Given the description of an element on the screen output the (x, y) to click on. 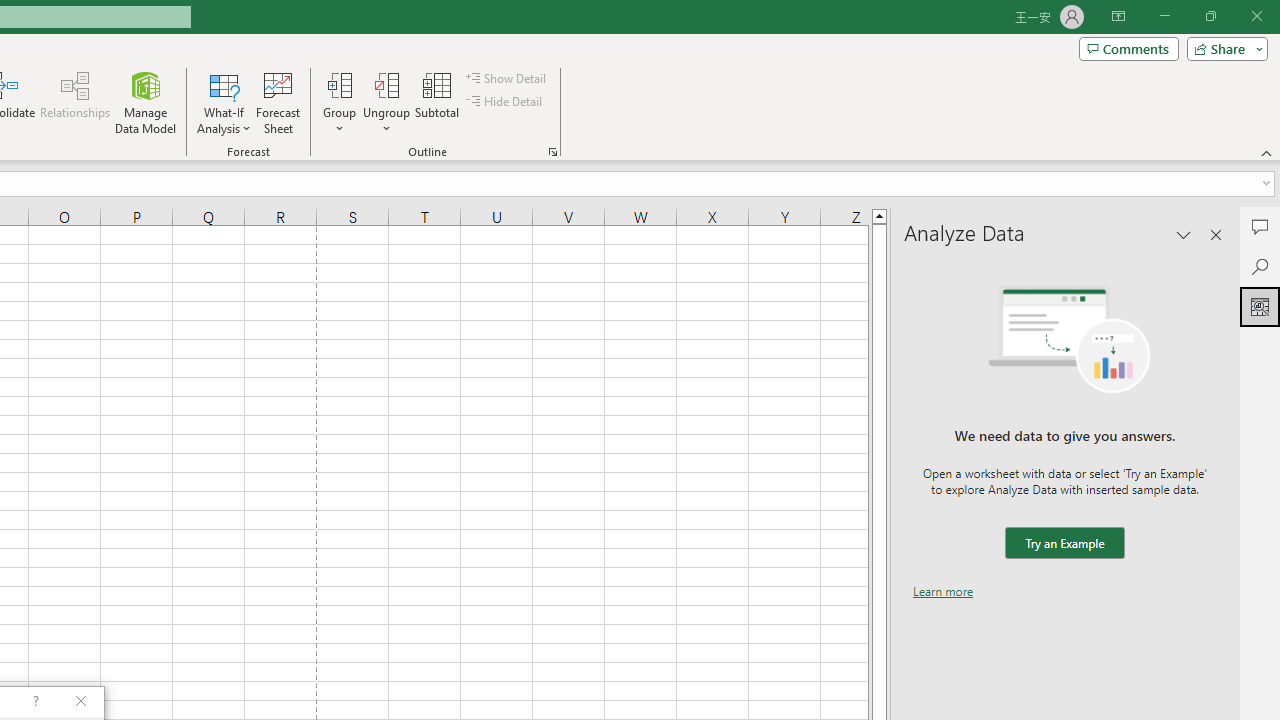
Search (1260, 266)
Group and Outline Settings (552, 151)
Share (1223, 48)
What-If Analysis (223, 102)
Ungroup... (386, 102)
Close (1256, 16)
Collapse the Ribbon (1267, 152)
Manage Data Model (145, 102)
Ungroup... (386, 84)
Forecast Sheet (278, 102)
Comments (1128, 48)
Comments (1260, 226)
Line up (879, 215)
Group... (339, 102)
Analyze Data (1260, 306)
